Given the description of an element on the screen output the (x, y) to click on. 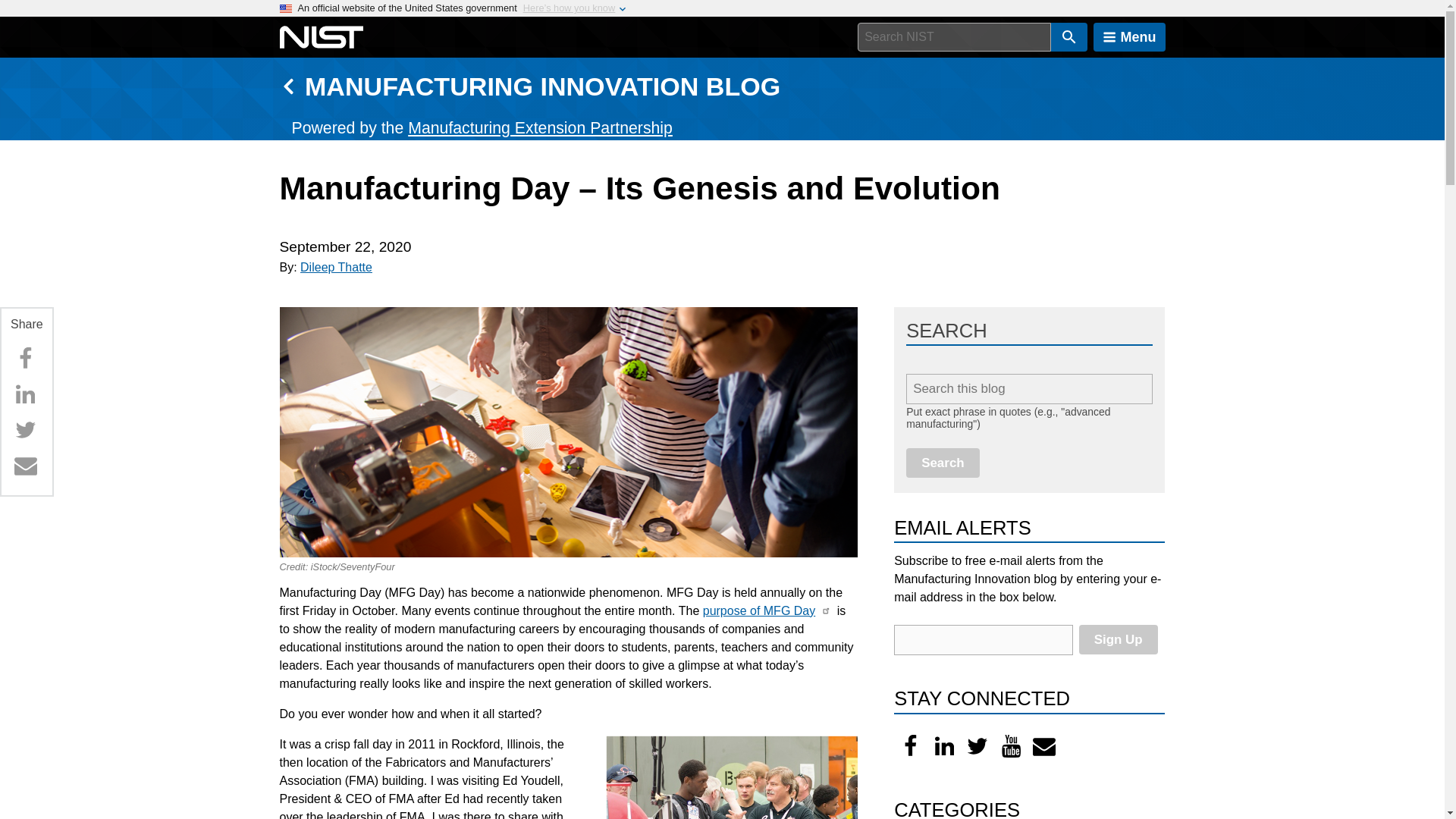
Twitter (25, 429)
Search (942, 462)
Linkedin (25, 394)
Email (25, 465)
Sign Up (1117, 639)
National Institute of Standards and Technology (320, 36)
email (983, 639)
Manufacturing Extension Partnership (539, 127)
purpose of MFG Day (759, 610)
Facebook (910, 745)
Menu (1129, 36)
Dileep Thatte (335, 267)
Facebook (25, 358)
MANUFACTURING INNOVATION BLOG (542, 86)
GovDelivery (1044, 745)
